Given the description of an element on the screen output the (x, y) to click on. 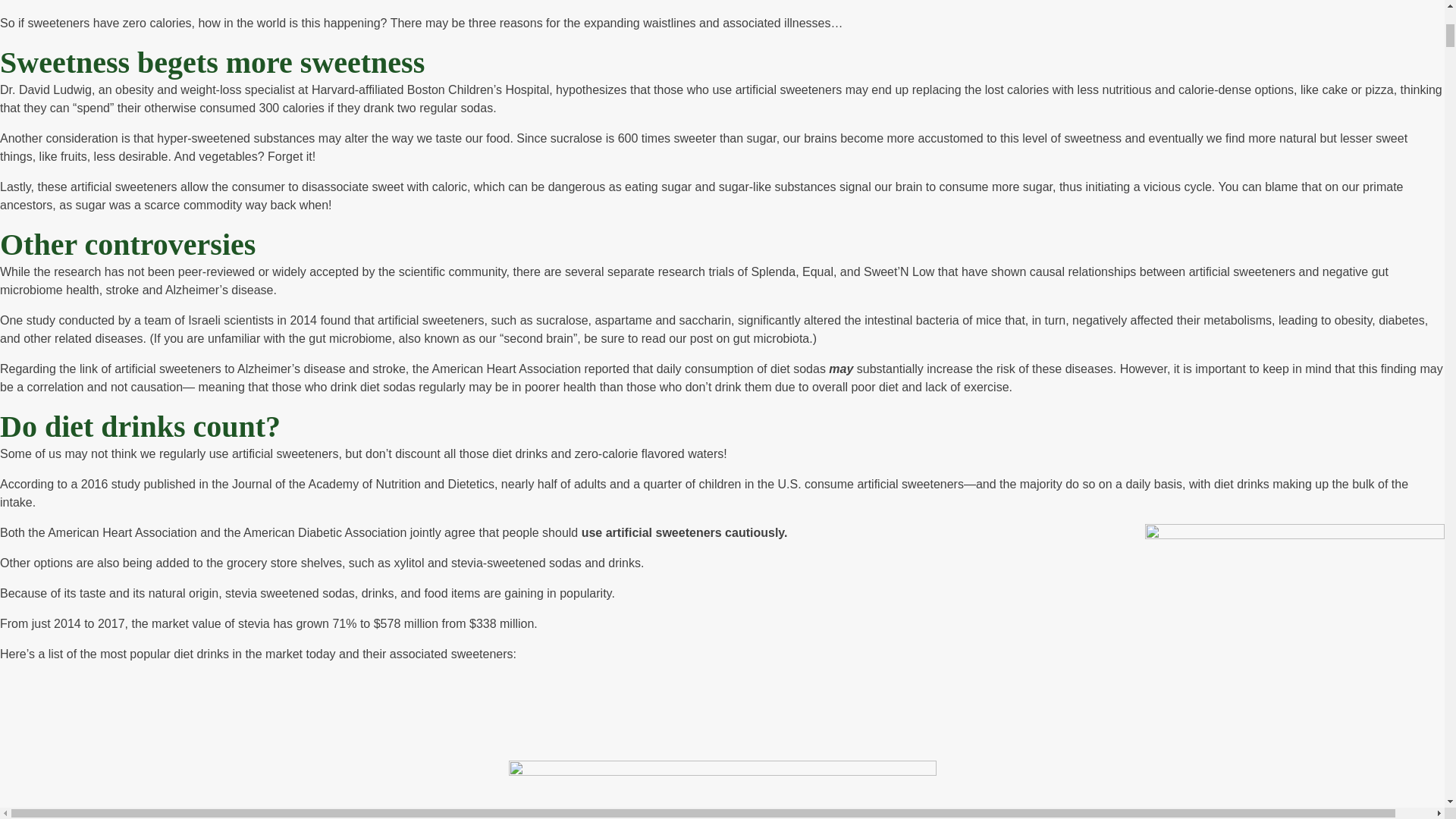
American Heart Association (506, 368)
gut microbiota (771, 338)
